Given the description of an element on the screen output the (x, y) to click on. 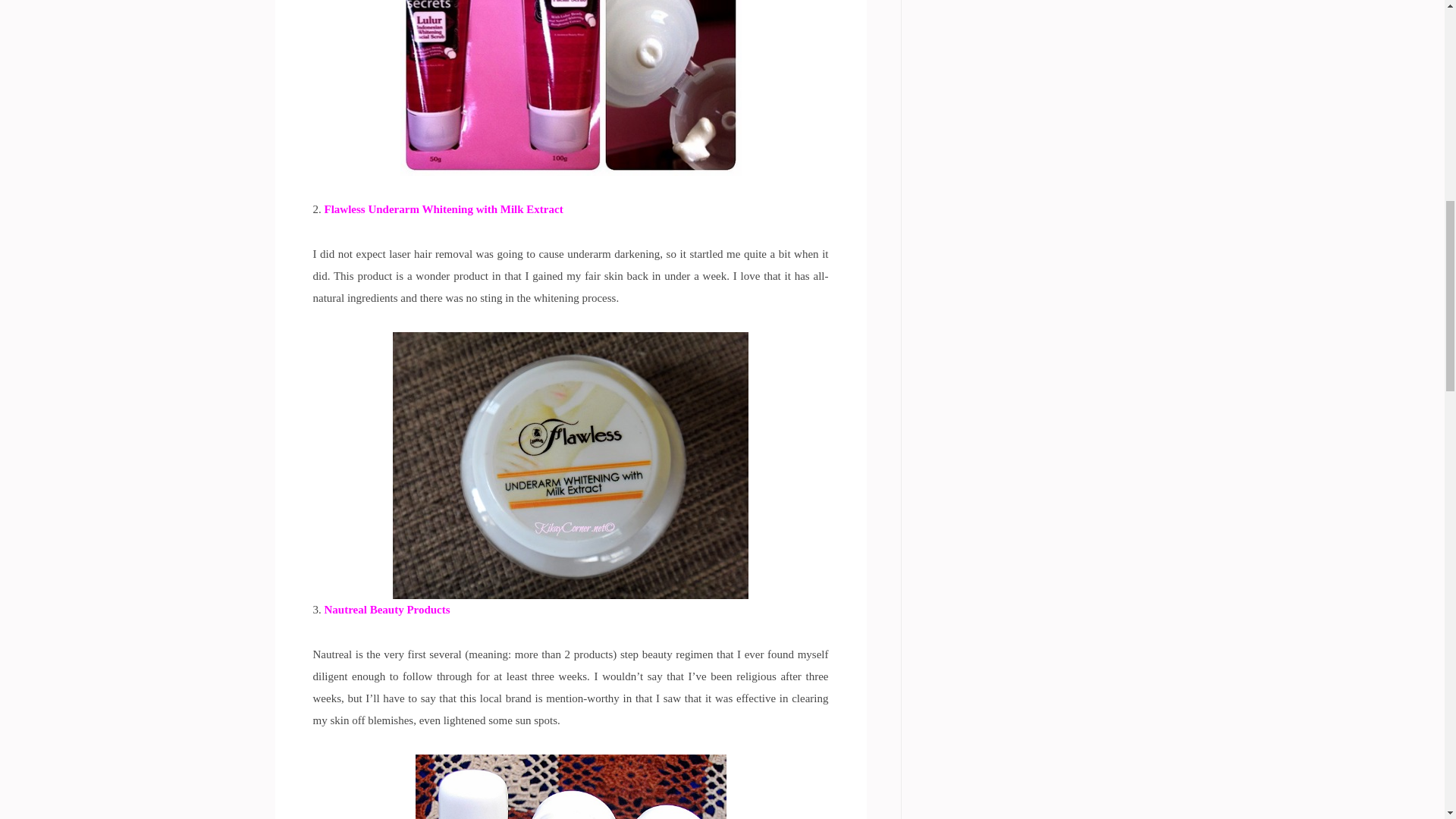
Flawless Underarm Whitening with Milk Extract (443, 209)
Nautreal Beauty Products (386, 609)
